Given the description of an element on the screen output the (x, y) to click on. 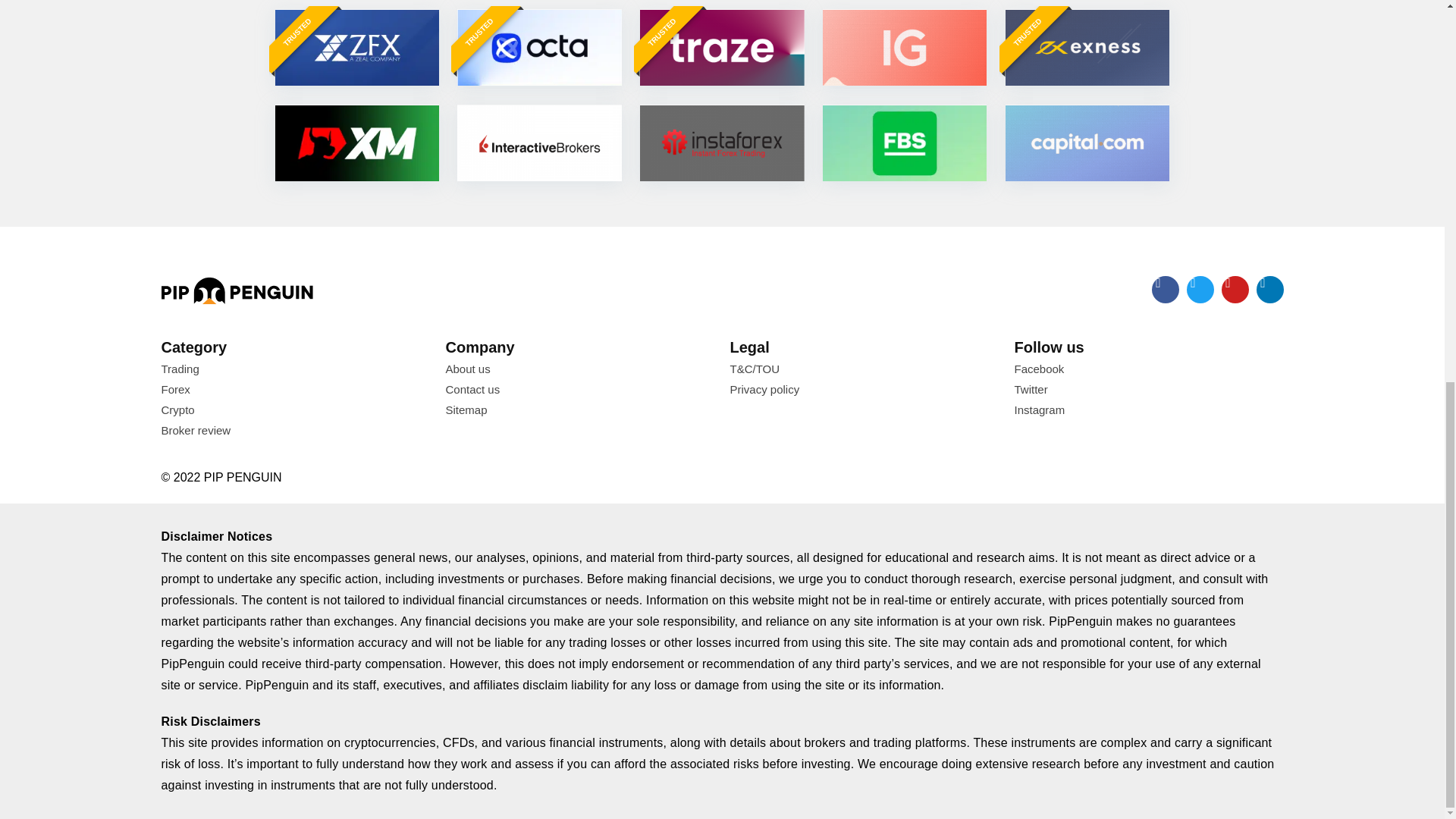
About us (579, 368)
Broker review (294, 430)
Trading (294, 368)
Privacy policy (863, 389)
Crypto (294, 409)
Contact us (579, 389)
Facebook (1149, 368)
Sitemap (579, 409)
Forex (294, 389)
